Given the description of an element on the screen output the (x, y) to click on. 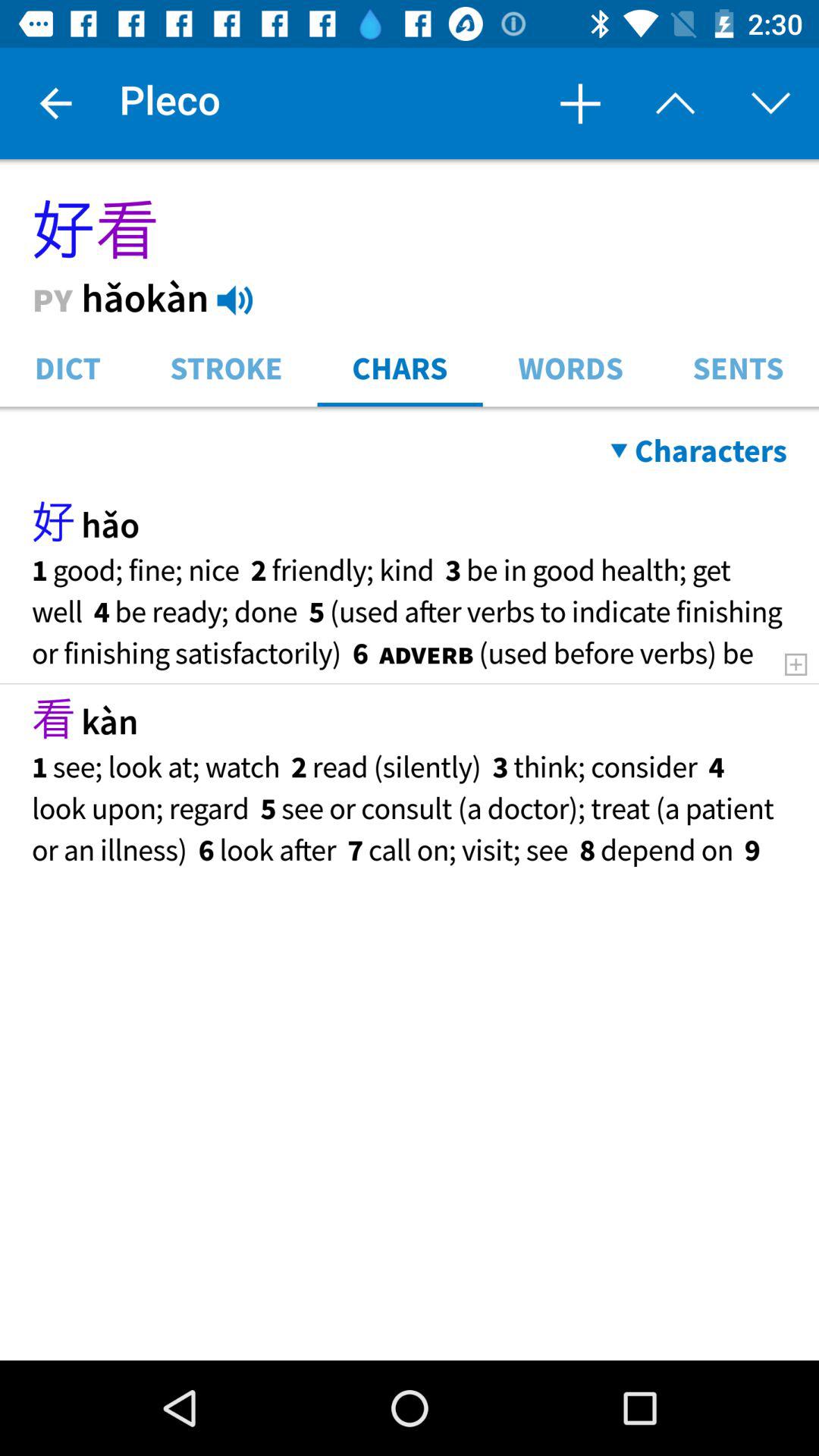
select icon to the left of sents item (570, 366)
